Given the description of an element on the screen output the (x, y) to click on. 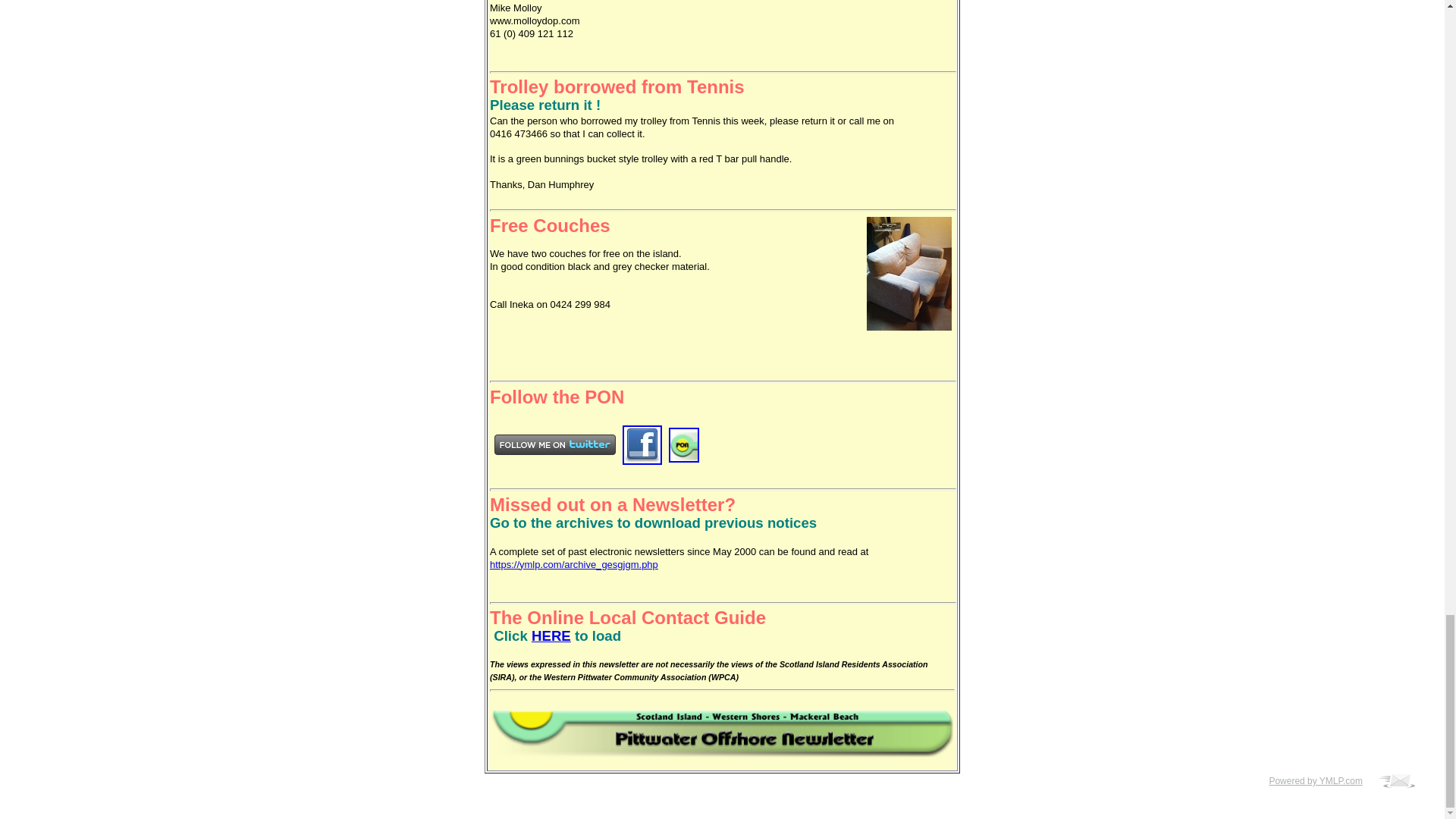
The Online Local Contact Guide (627, 617)
Powered by YMLP.com (1319, 780)
HERE (550, 635)
